Given the description of an element on the screen output the (x, y) to click on. 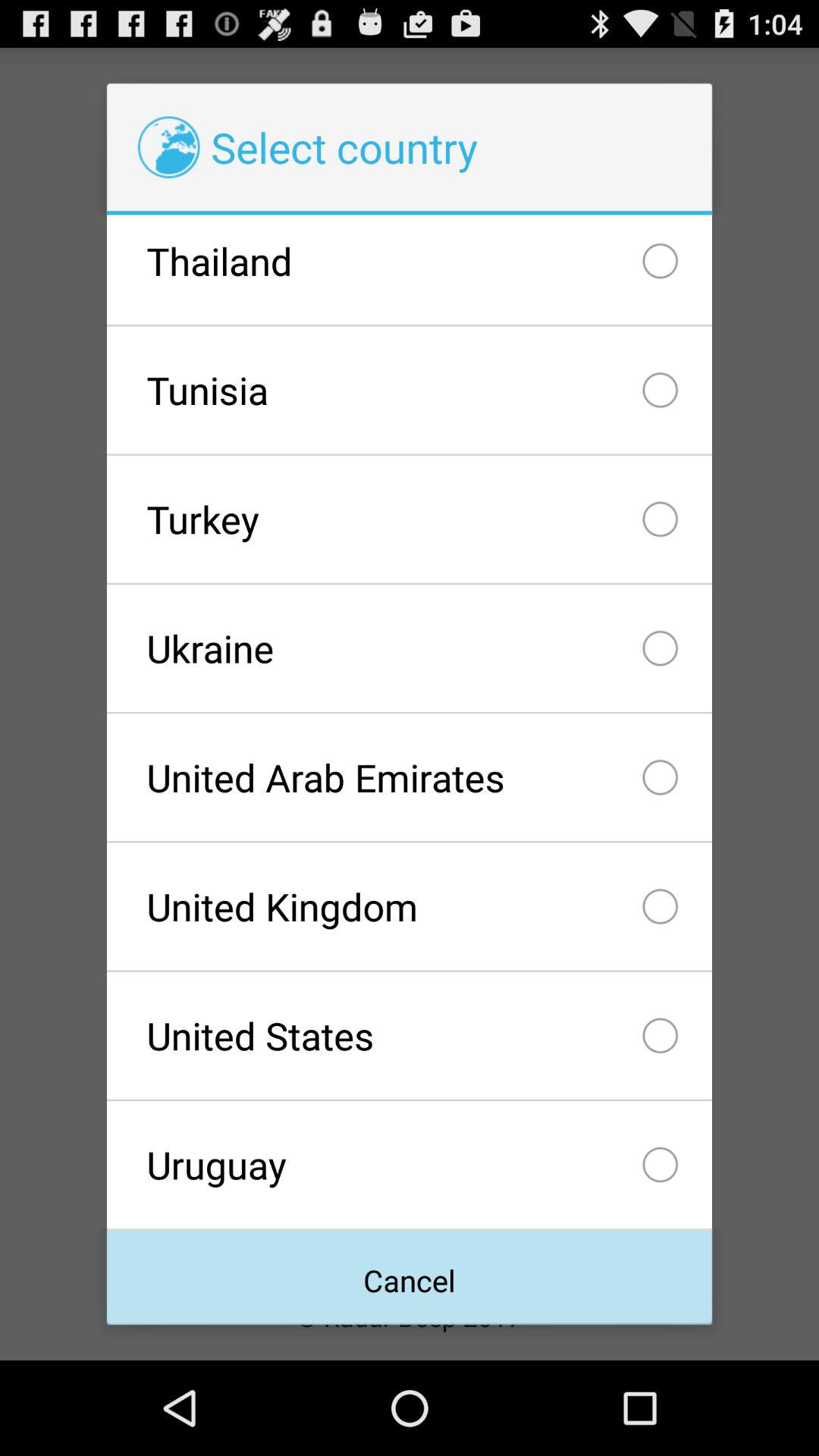
swipe to the united states (409, 1035)
